Given the description of an element on the screen output the (x, y) to click on. 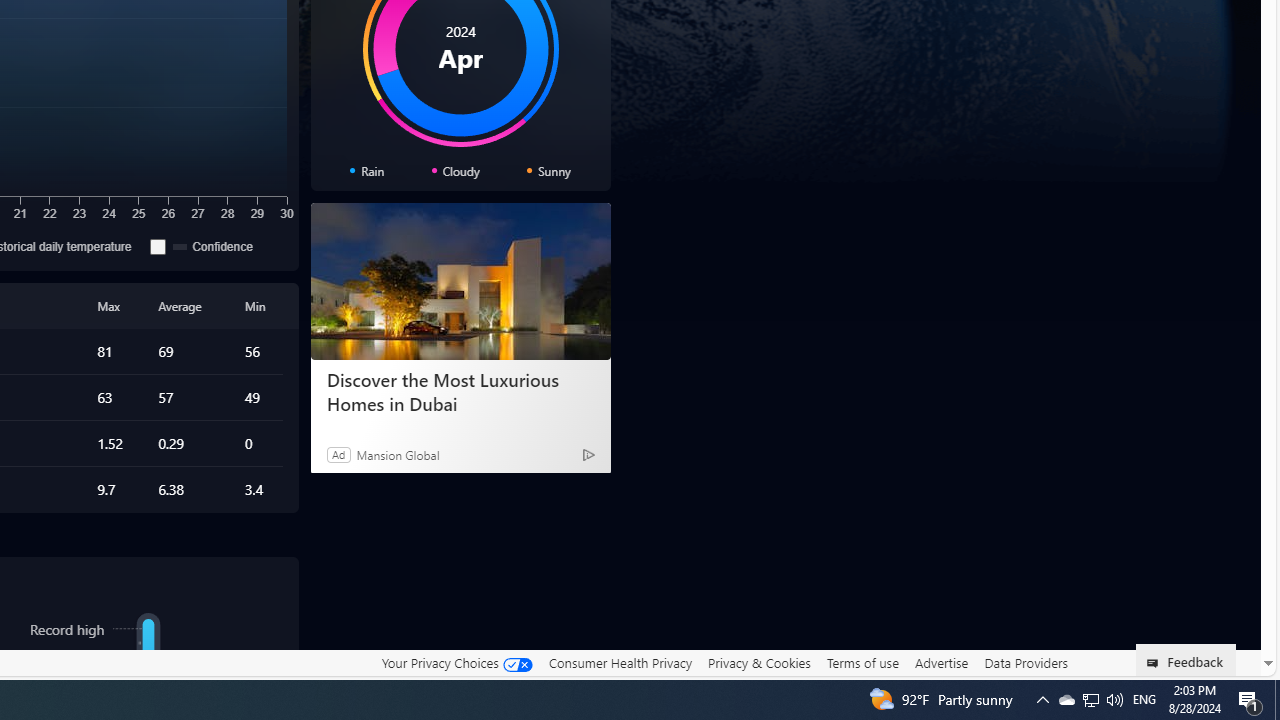
Terms of use (861, 663)
Confidence (214, 246)
Data Providers (1025, 662)
Privacy & Cookies (759, 662)
Class: feedback_link_icon-DS-EntryPoint1-1 (1156, 663)
Discover the Most Luxurious Homes in Dubai (460, 391)
Your Privacy Choices (456, 663)
